Given the description of an element on the screen output the (x, y) to click on. 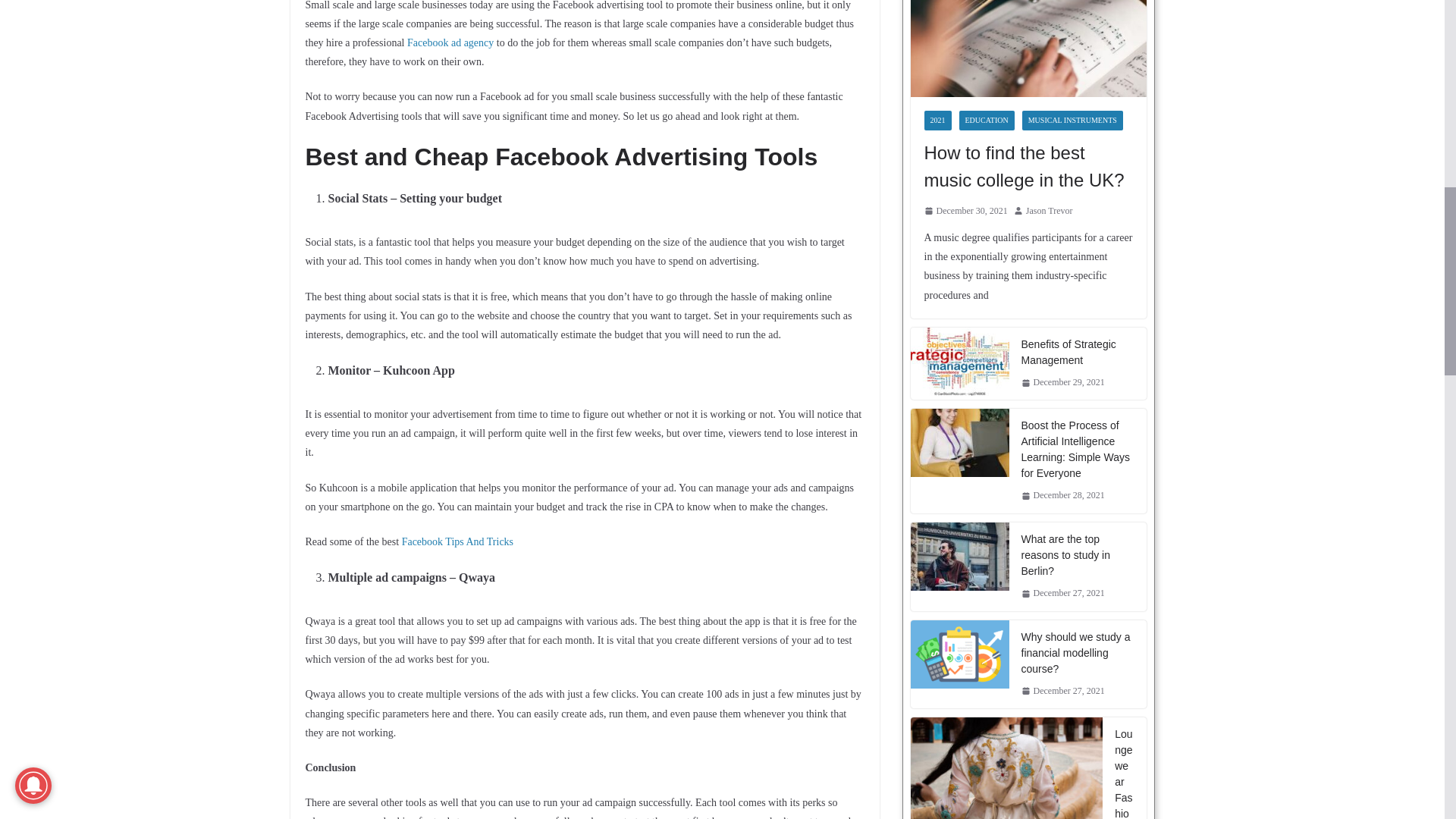
Facebook Tips And Tricks (457, 541)
Facebook Tips And Tricks (457, 541)
Facebook ad agency (450, 42)
